Given the description of an element on the screen output the (x, y) to click on. 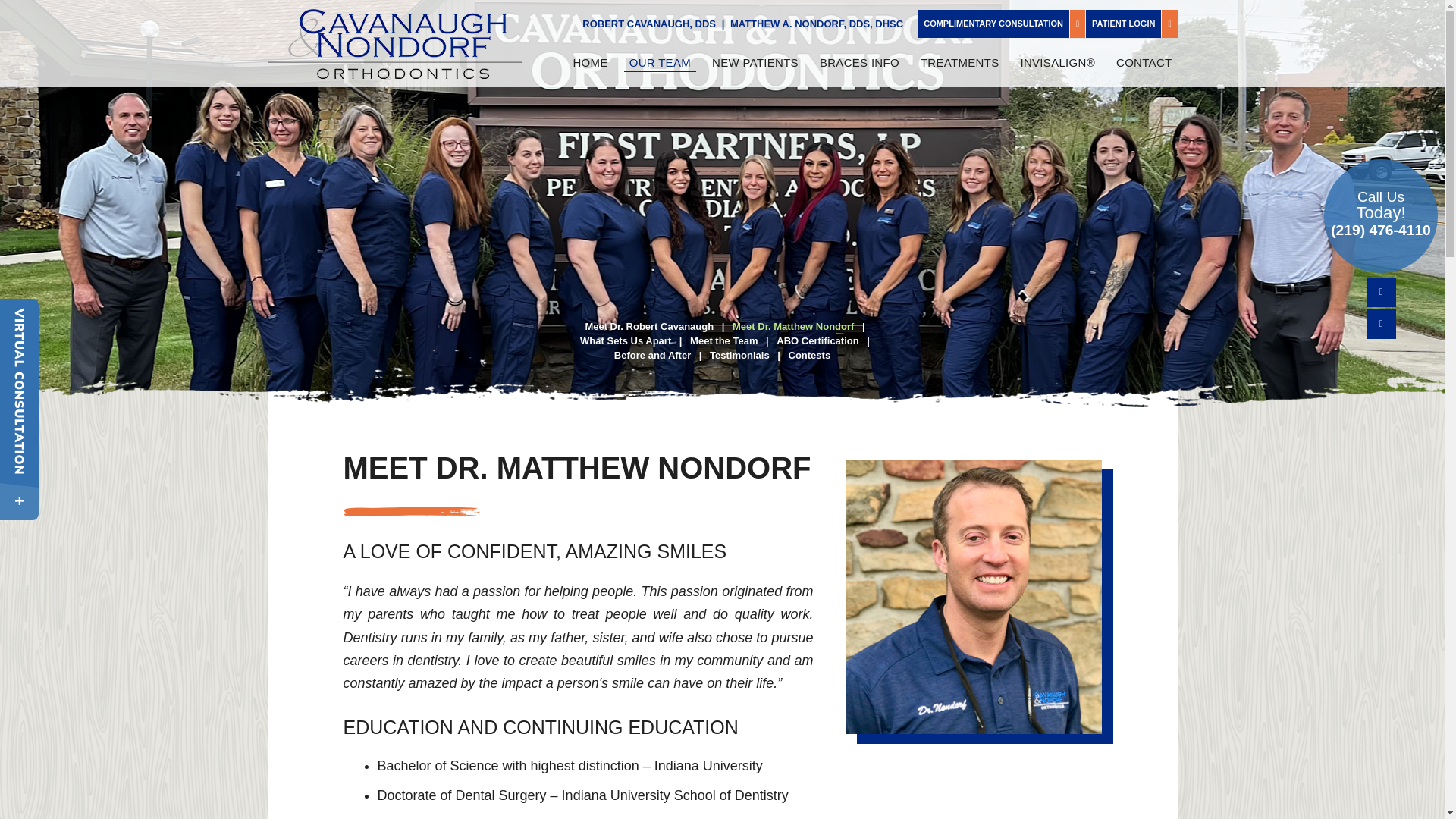
OUR TEAM (659, 62)
BRACES INFO (858, 62)
TREATMENTS (959, 62)
HOME (589, 62)
NEW PATIENTS (754, 62)
